Given the description of an element on the screen output the (x, y) to click on. 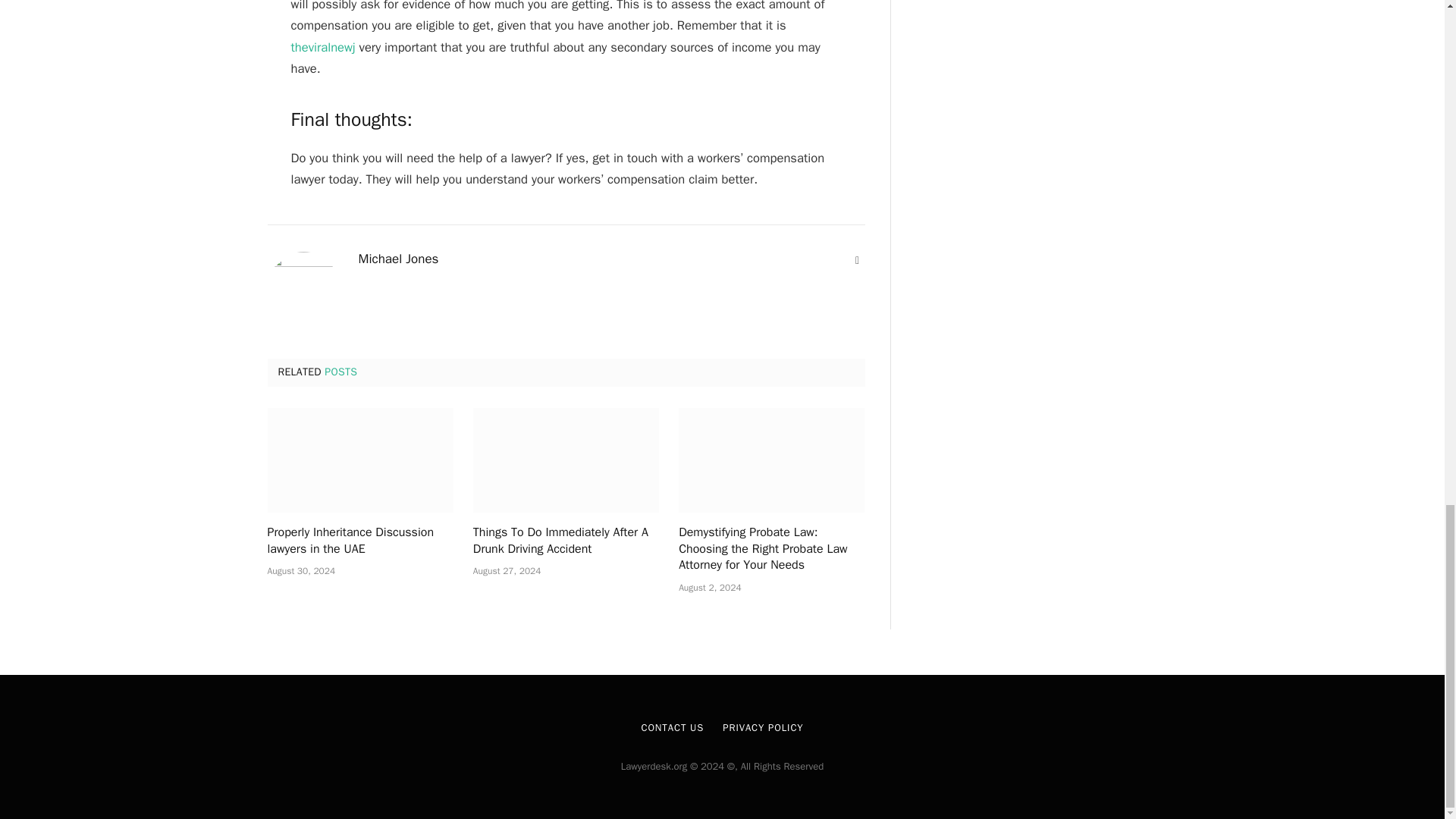
Michael Jones (398, 258)
Website (856, 260)
Posts by Michael Jones (398, 258)
Properly Inheritance Discussion lawyers in the UAE (359, 540)
Properly Inheritance Discussion lawyers in the UAE (359, 459)
Website (856, 260)
Things To Do Immediately After A Drunk Driving Accident (566, 459)
Things To Do Immediately After A Drunk Driving Accident (566, 540)
